Given the description of an element on the screen output the (x, y) to click on. 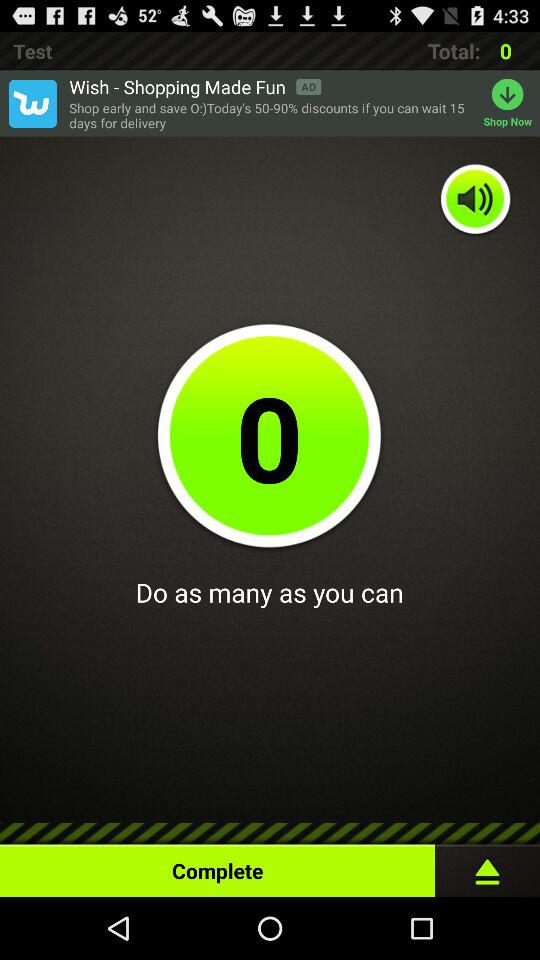
open advert (32, 103)
